Given the description of an element on the screen output the (x, y) to click on. 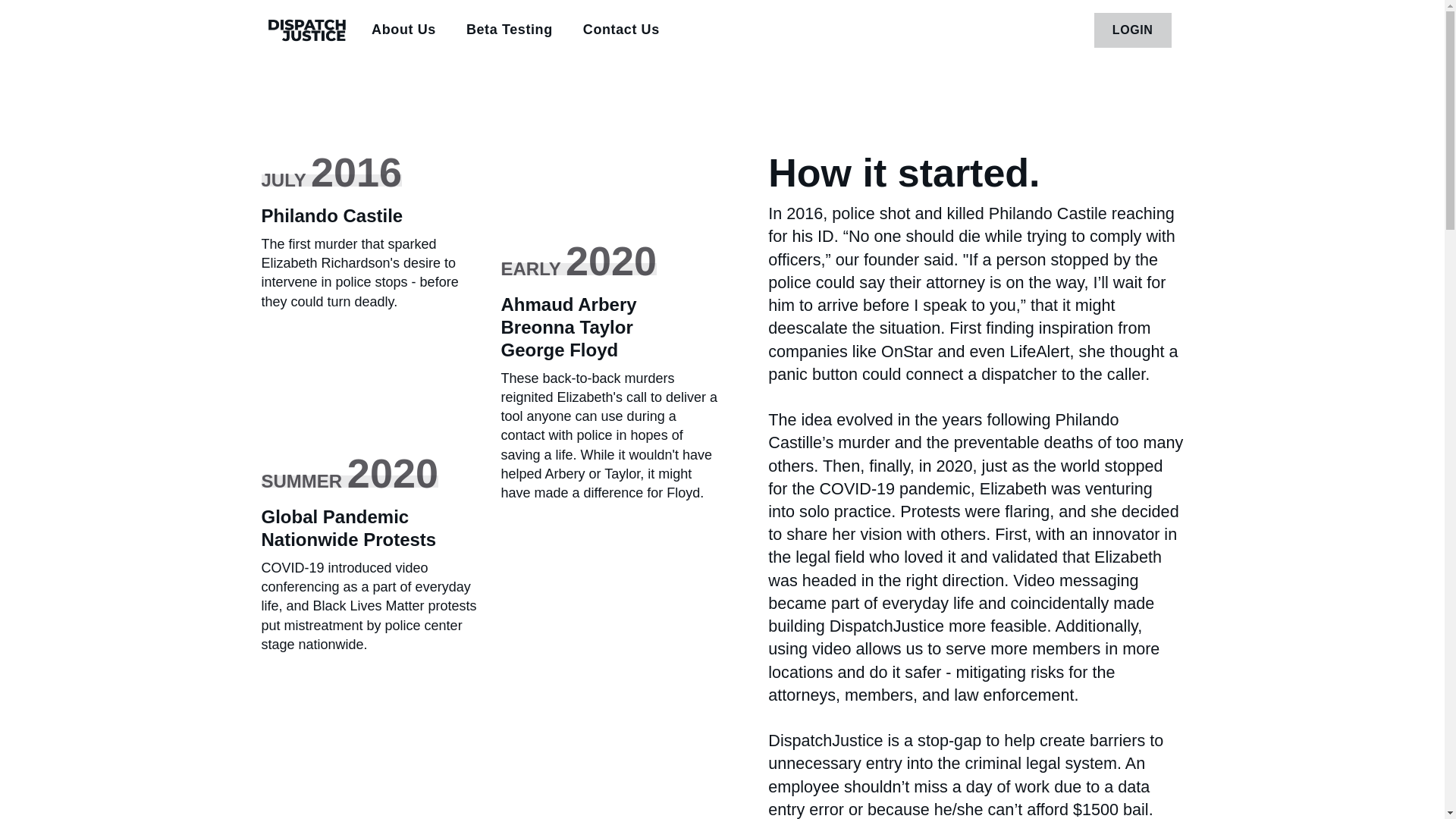
Contact Us (620, 30)
Beta Testing (509, 30)
LOGIN (1133, 30)
About Us (403, 30)
